Given the description of an element on the screen output the (x, y) to click on. 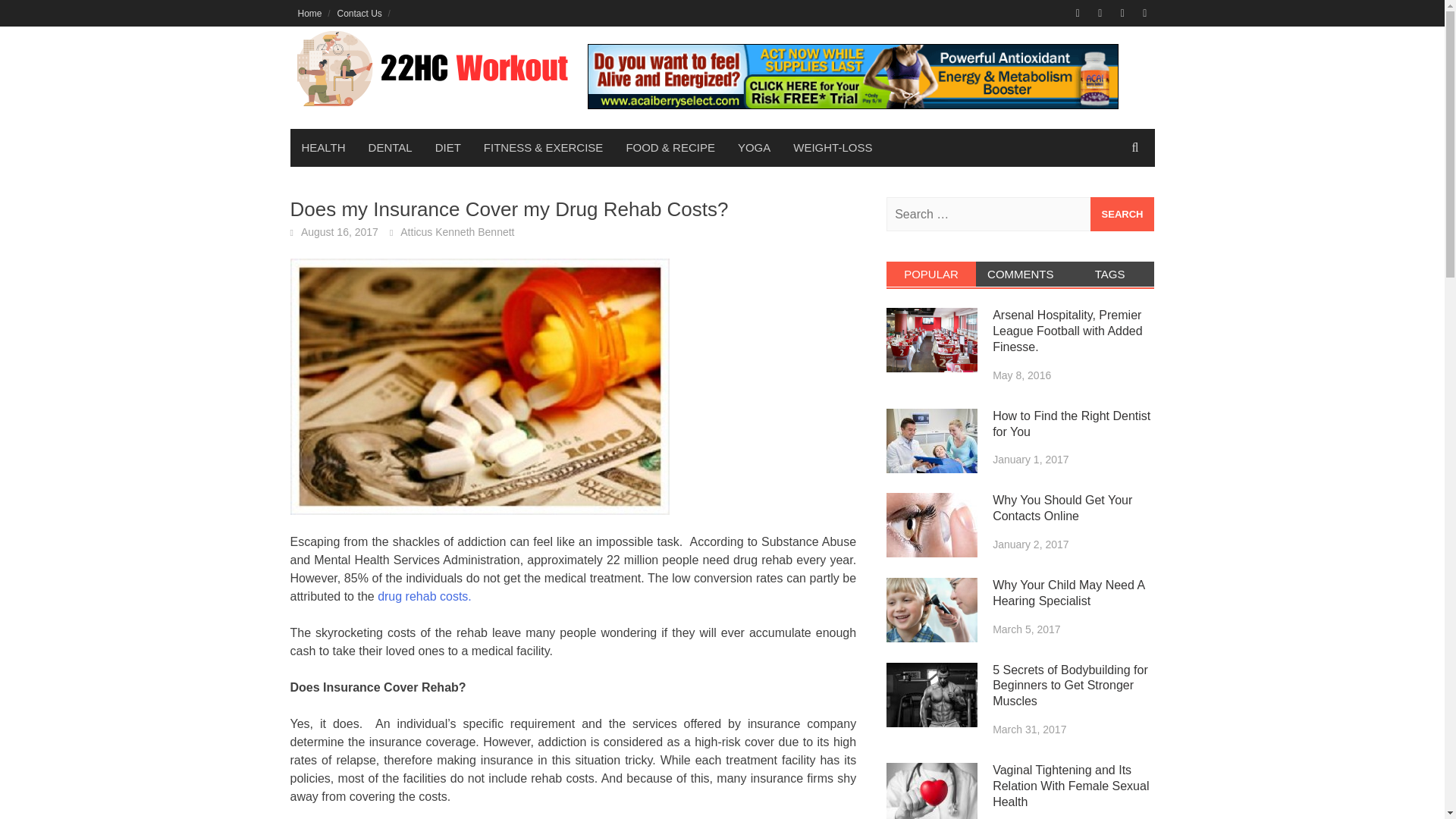
Why Your Child May Need A Hearing Specialist (931, 610)
drug rehab costs. (424, 595)
DIET (447, 147)
Home (309, 13)
Atticus Kenneth Bennett (456, 232)
Search (1122, 213)
August 16, 2017 (339, 232)
Search (1122, 213)
